Given the description of an element on the screen output the (x, y) to click on. 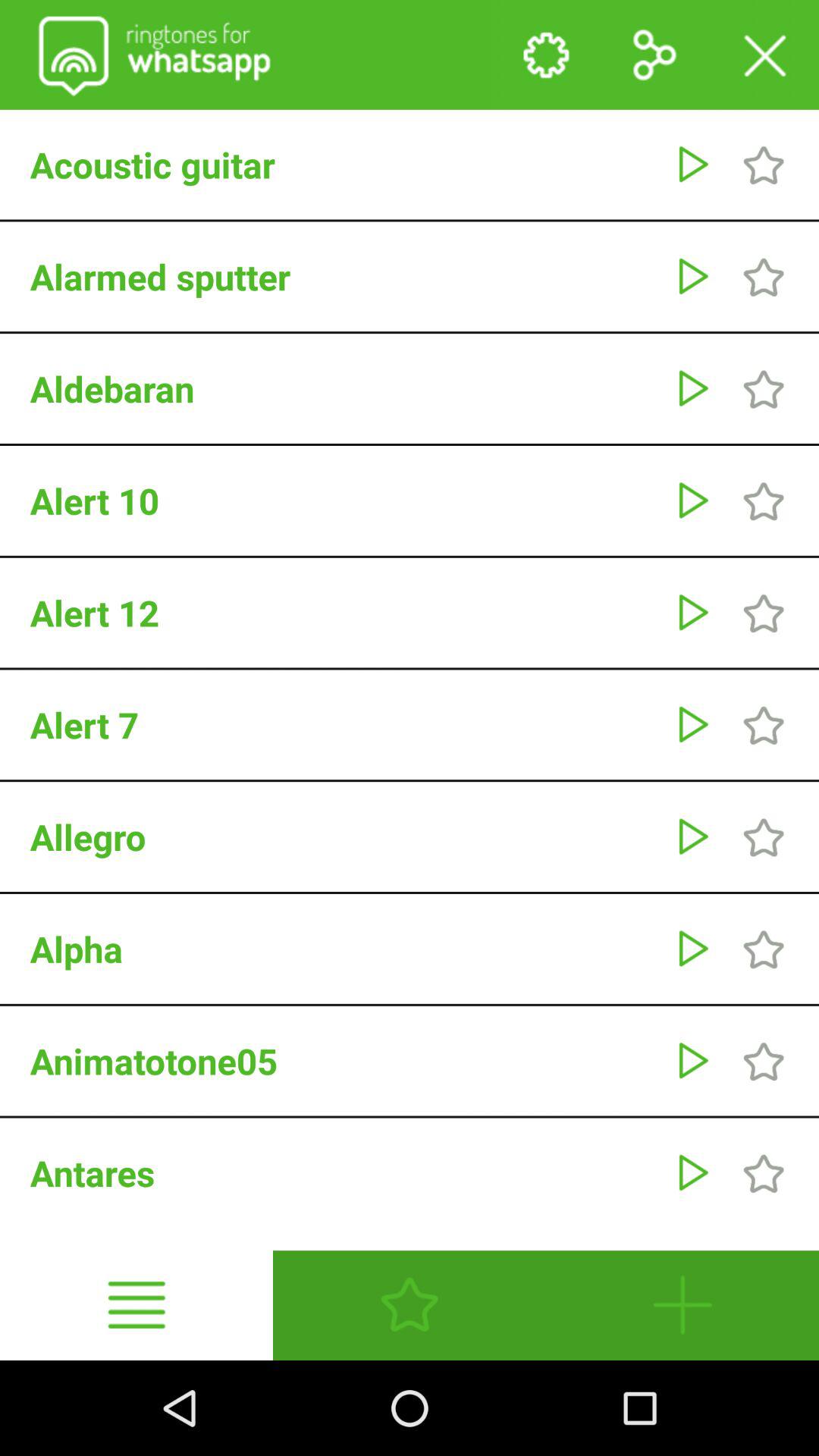
scroll to the alert 10 (344, 500)
